Given the description of an element on the screen output the (x, y) to click on. 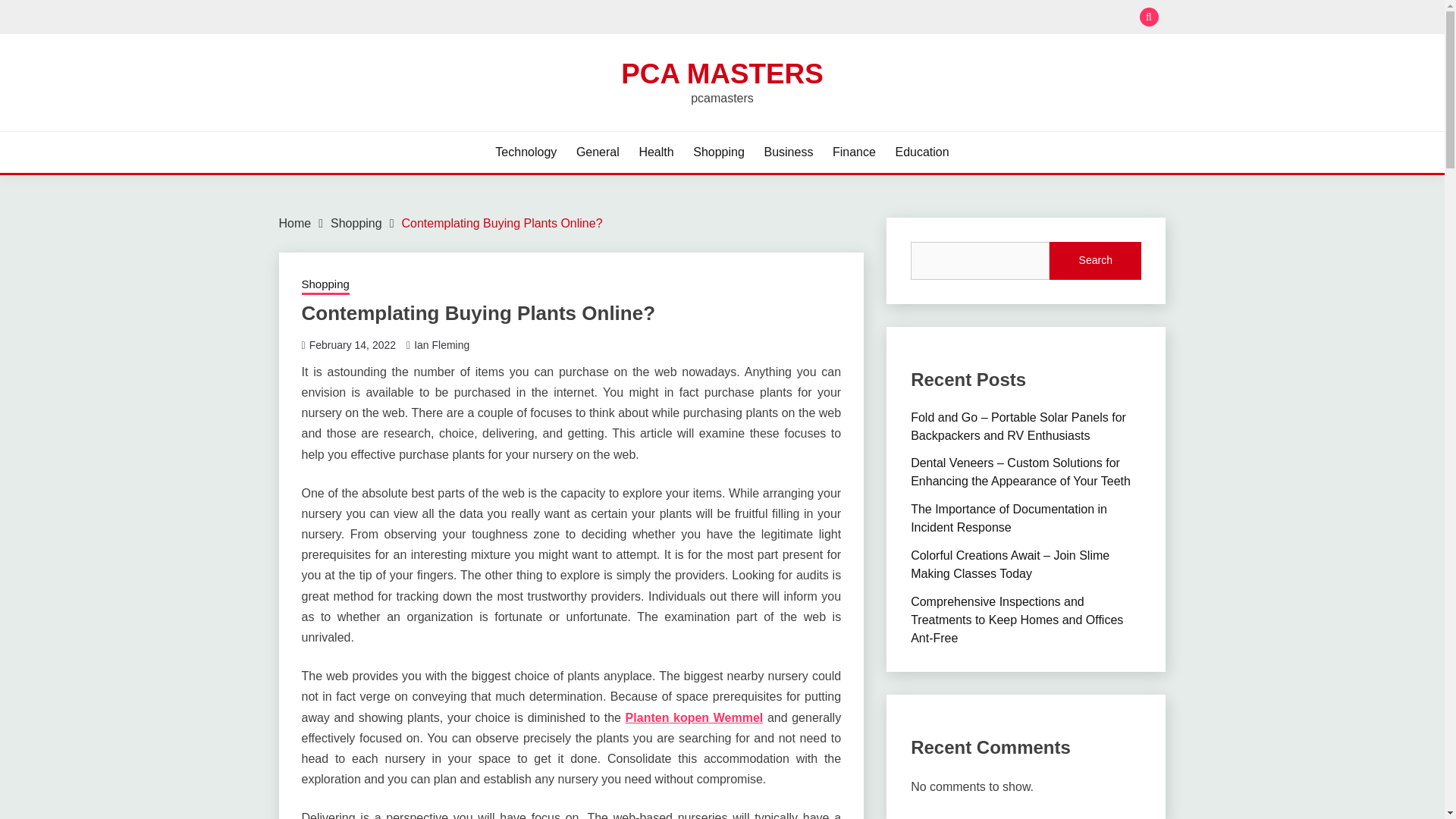
Contemplating Buying Plants Online? (501, 223)
February 14, 2022 (352, 345)
Business (787, 152)
Health (655, 152)
General (598, 152)
Education (922, 152)
The Importance of Documentation in Incident Response (1008, 517)
Shopping (325, 285)
Technology (525, 152)
Search (1095, 260)
Shopping (718, 152)
Search (832, 18)
Finance (854, 152)
Planten kopen Wemmel (694, 717)
